Given the description of an element on the screen output the (x, y) to click on. 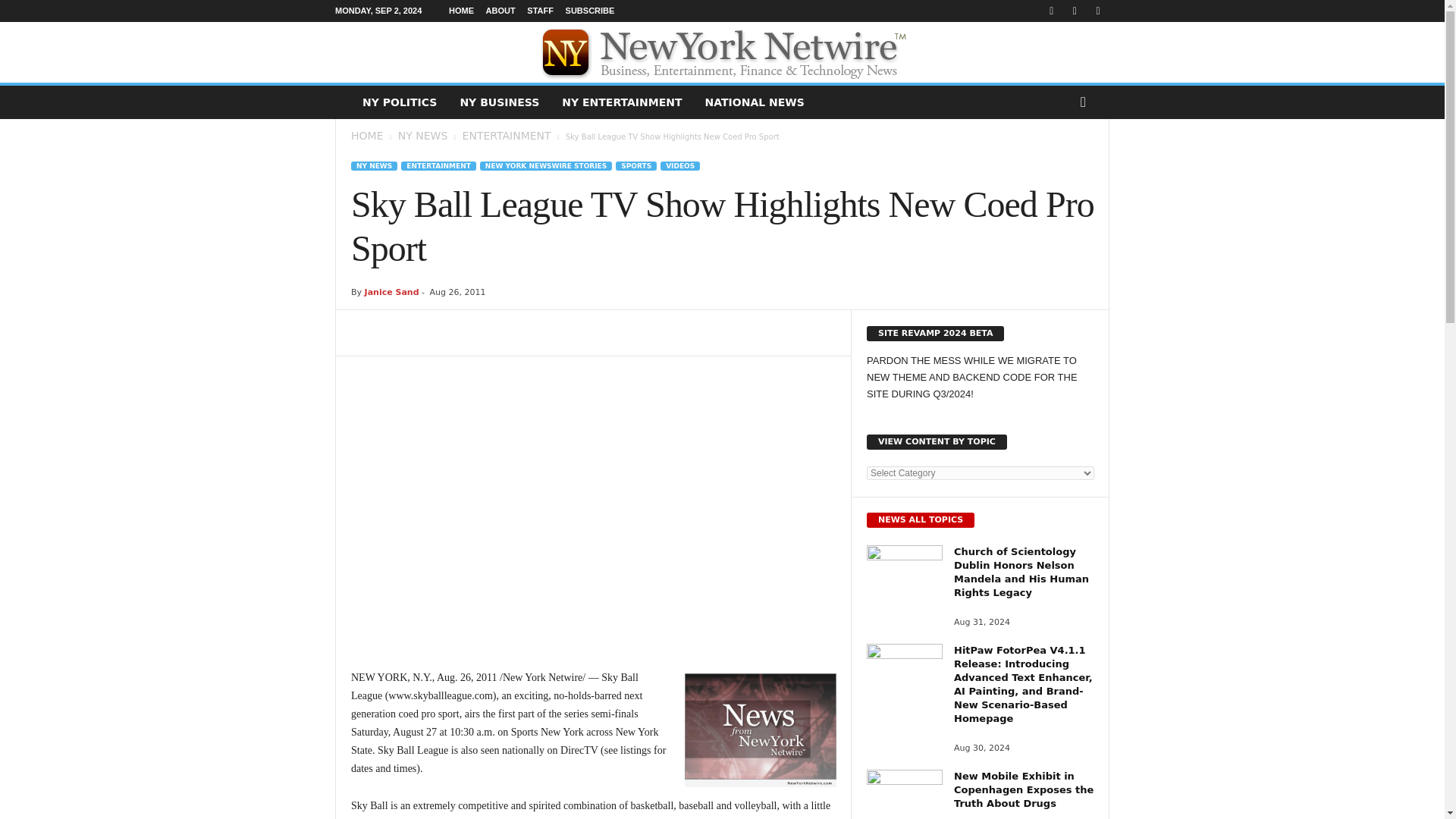
NY NEWS (422, 135)
HOME (461, 10)
ABOUT (500, 10)
HOME (366, 135)
Skyball Leauge Highlight Reel (592, 507)
NY BUSINESS (499, 101)
NATIONAL NEWS (754, 101)
Janice Sand (392, 292)
NEW YORK NEWSWIRE STORIES (545, 165)
SUBSCRIBE (590, 10)
